Given the description of an element on the screen output the (x, y) to click on. 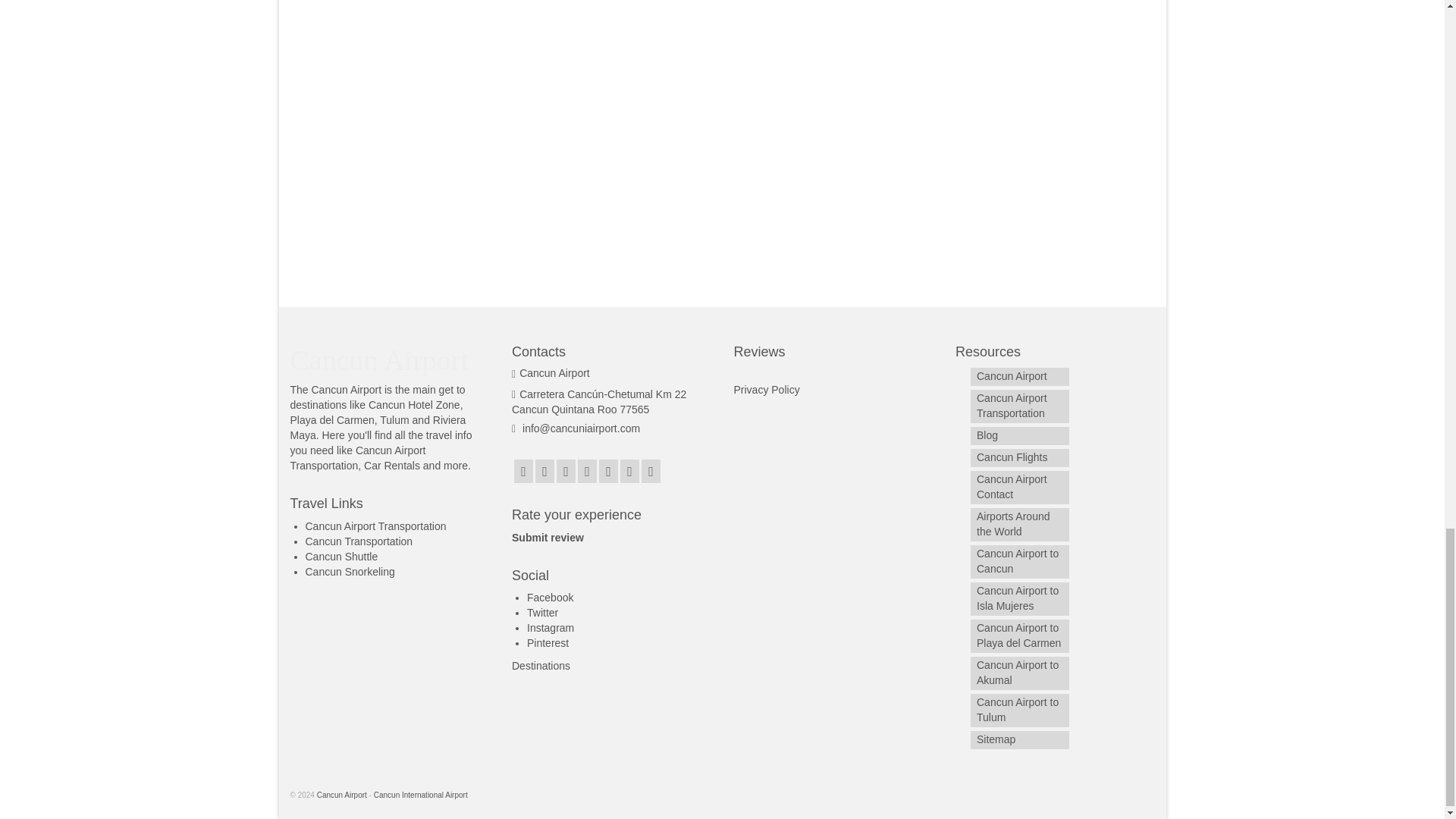
Cancun Shuttles (340, 556)
Cancun Snorkeling (349, 571)
Cancun Airport Transportation (374, 526)
